Given the description of an element on the screen output the (x, y) to click on. 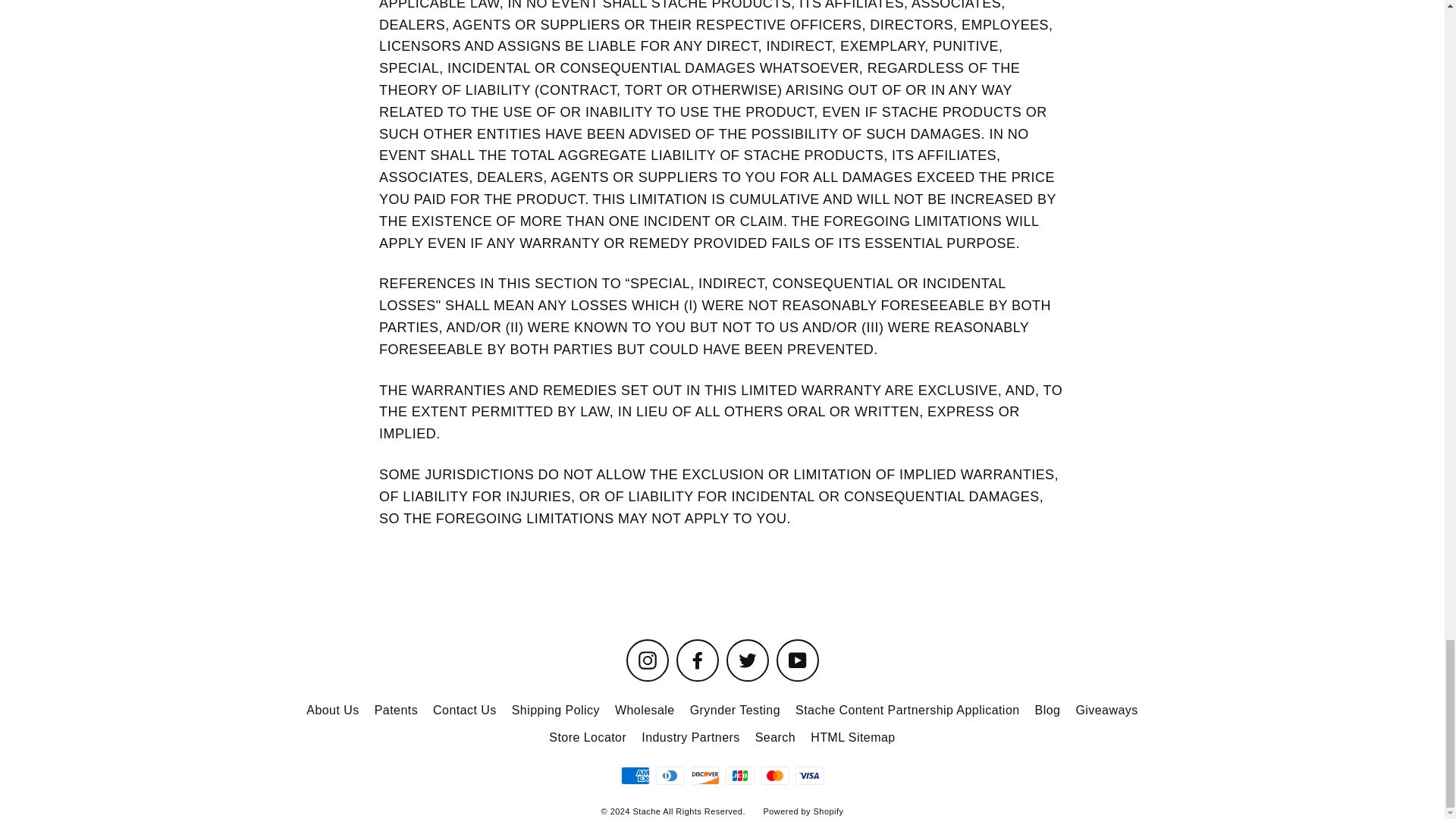
Diners Club (669, 775)
Discover (704, 775)
American Express (634, 775)
Stache on Instagram (647, 660)
Stache on Twitter (747, 660)
Stache on Facebook (698, 660)
Mastercard (774, 775)
Visa (809, 775)
Stache on YouTube (797, 660)
JCB (739, 775)
